Given the description of an element on the screen output the (x, y) to click on. 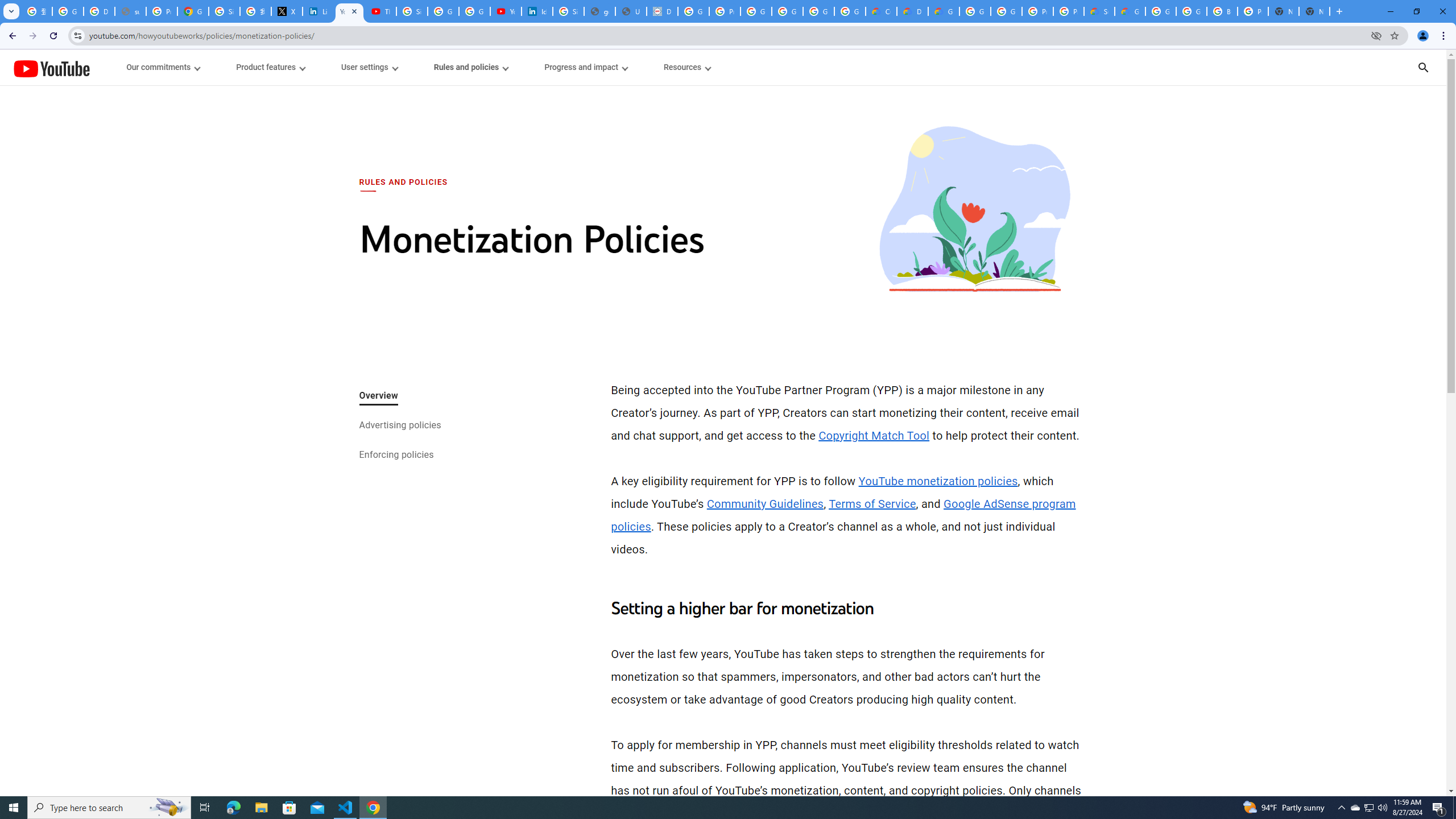
Our commitments menupopup (163, 67)
Google Cloud Platform (1005, 11)
Advertising policies (399, 425)
Copyright Match Tool (874, 435)
Google Workspace - Specific Terms (818, 11)
Google AdSense program policies (843, 515)
